Given the description of an element on the screen output the (x, y) to click on. 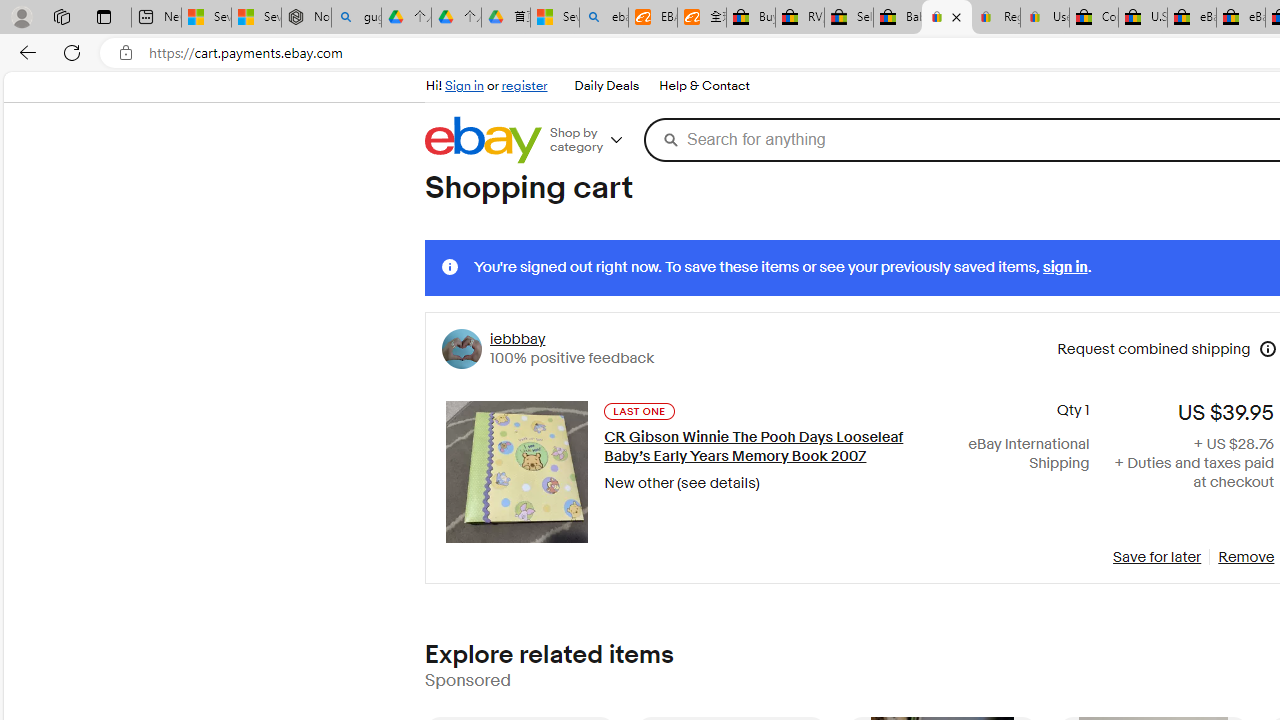
iebbbay (518, 339)
eBay Inc. Reports Third Quarter 2023 Results (1240, 17)
Help & Contact (704, 86)
Consumer Health Data Privacy Policy - eBay Inc. (1093, 17)
Sign in (464, 85)
eBay Home (482, 139)
Help & Contact (703, 85)
